Given the description of an element on the screen output the (x, y) to click on. 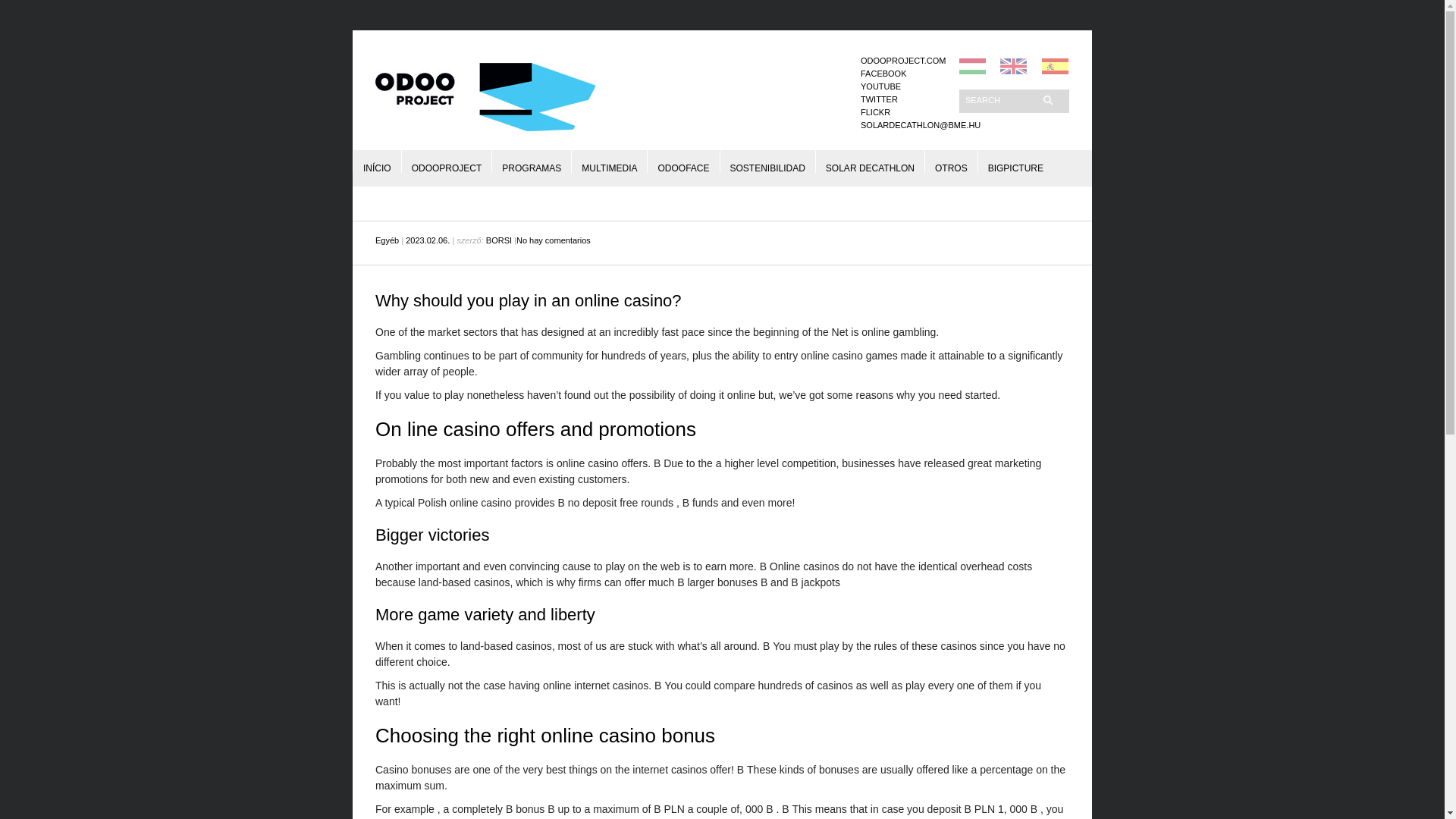
PROGRAMAS (531, 160)
ODOOPROJECT.COM (902, 60)
FACEBOOK (883, 72)
MULTIMEDIA (608, 160)
ODOOFACE (683, 160)
OTROS (951, 160)
BORSI (499, 239)
YOUTUBE (880, 85)
ODOOPROJECT (446, 160)
SOLAR DECATHLON (869, 160)
